Given the description of an element on the screen output the (x, y) to click on. 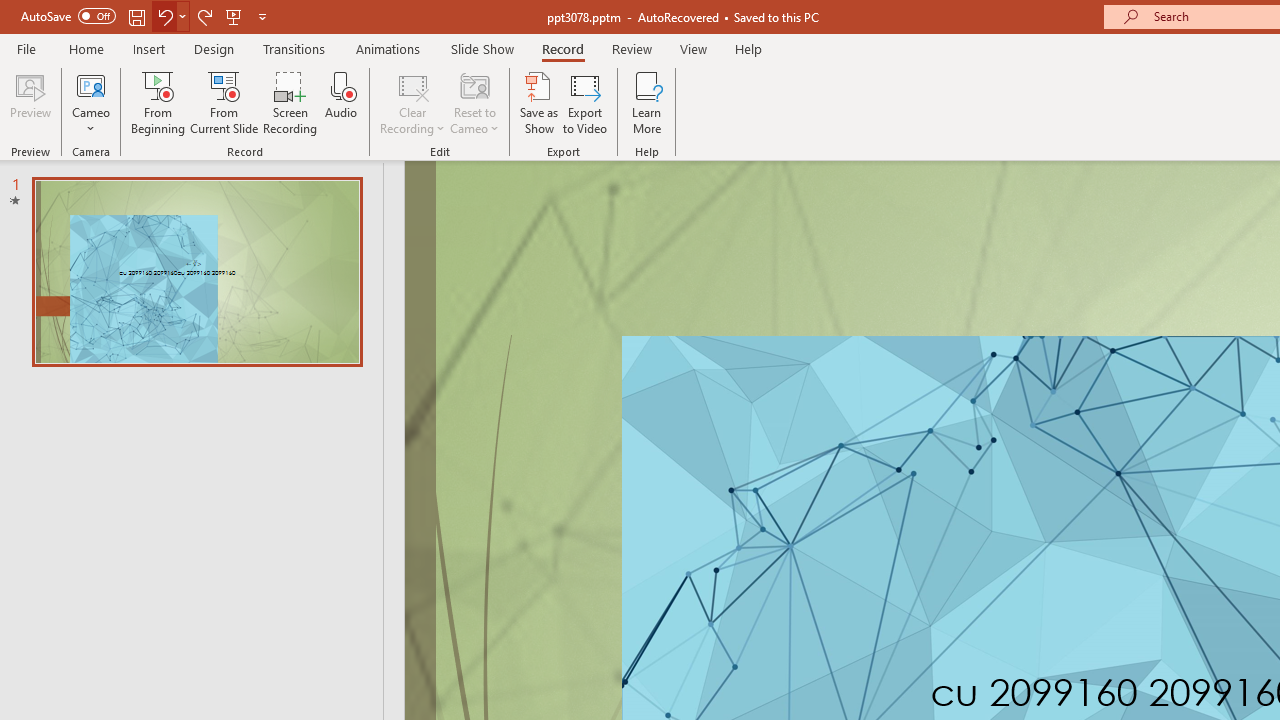
Audio (341, 102)
Learn More (646, 102)
Preview (30, 102)
Save as Show (539, 102)
Cameo (91, 84)
